Given the description of an element on the screen output the (x, y) to click on. 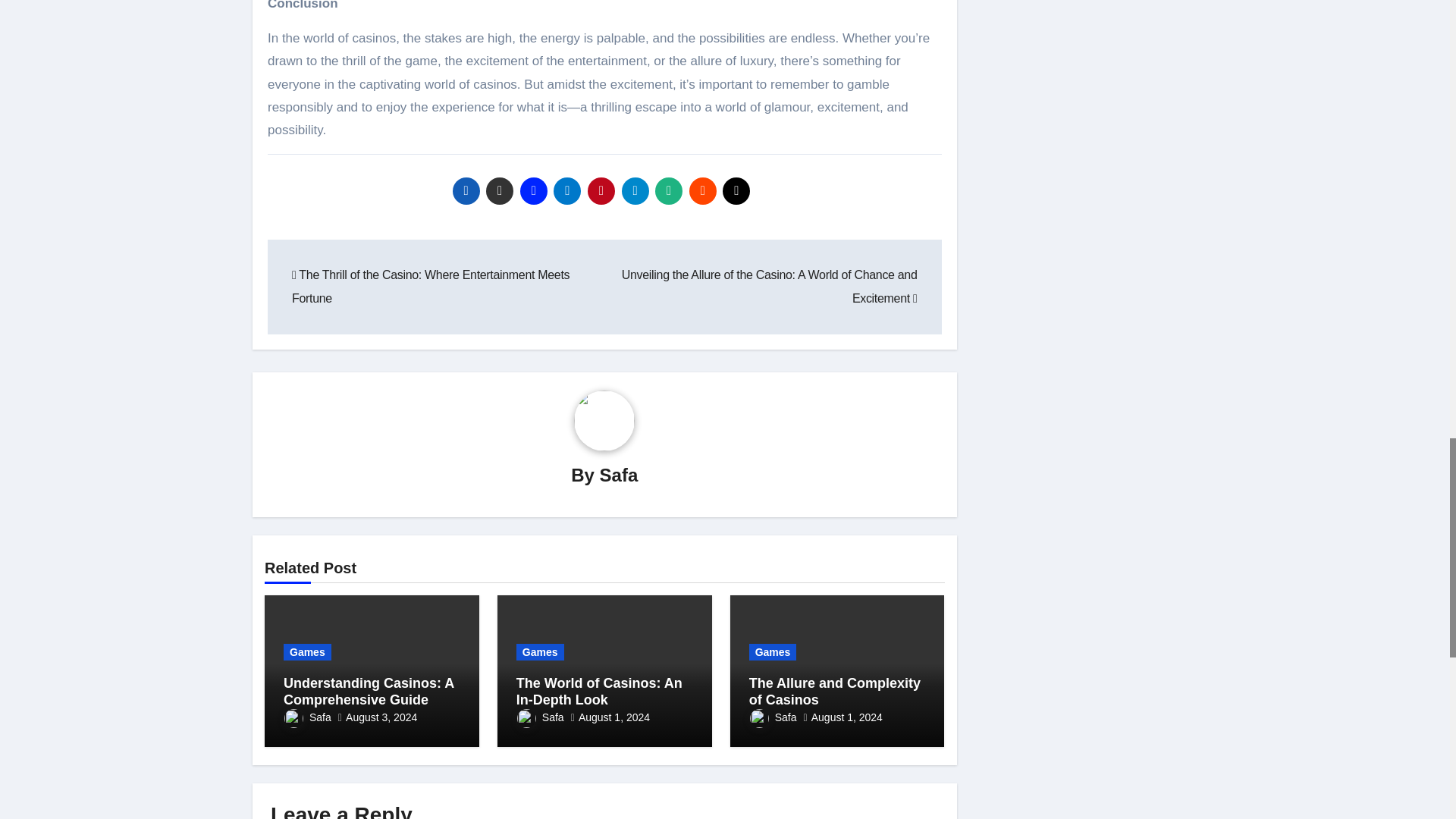
Safa (619, 475)
Permalink to: The World of Casinos: An In-Depth Look (599, 691)
Understanding Casinos: A Comprehensive Guide (368, 691)
Games (307, 651)
The Thrill of the Casino: Where Entertainment Meets Fortune (430, 285)
Permalink to: The Allure and Complexity of Casinos (834, 691)
Permalink to: Understanding Casinos: A Comprehensive Guide (368, 691)
